Given the description of an element on the screen output the (x, y) to click on. 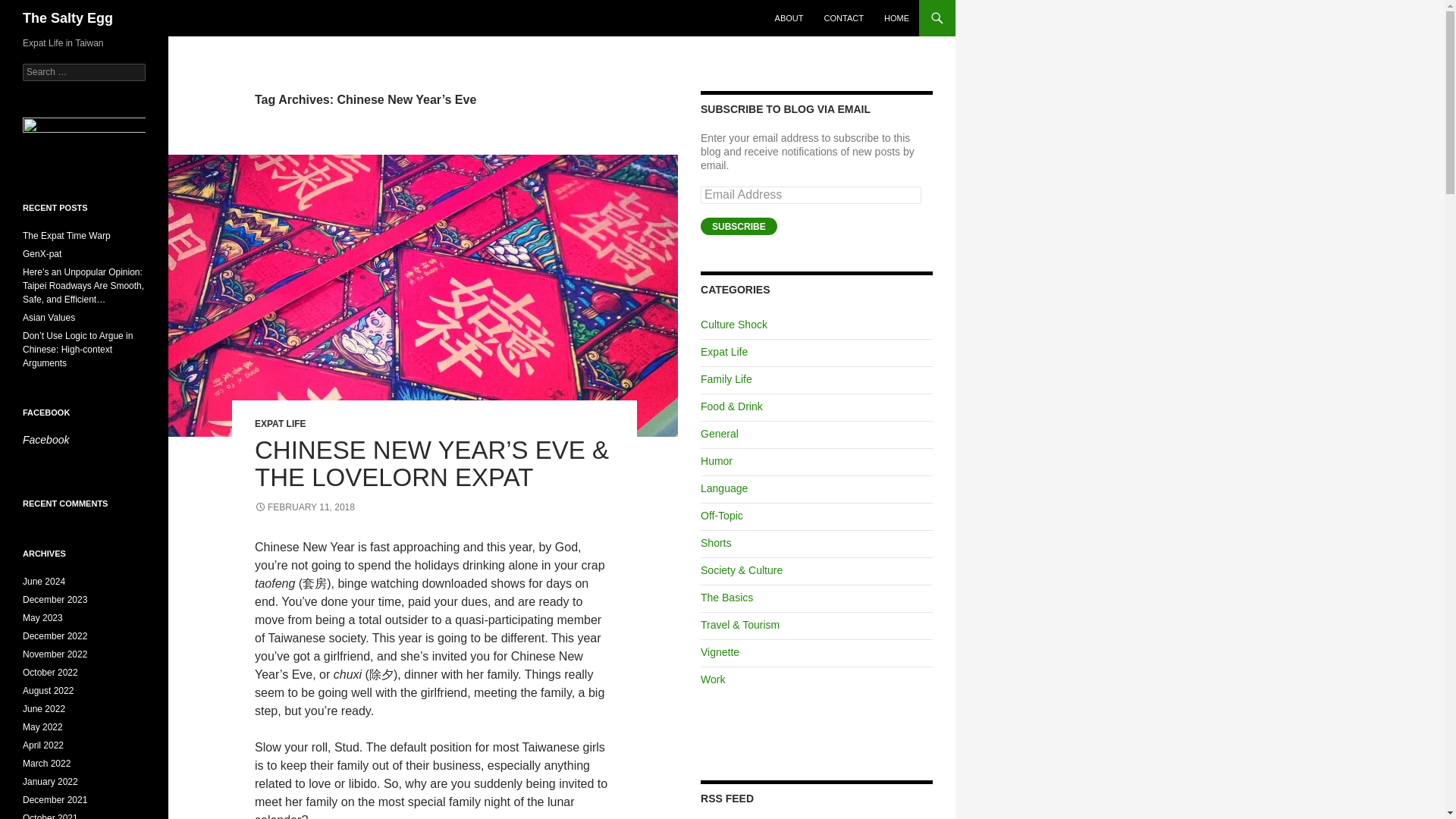
EXPAT LIFE (279, 423)
SUBSCRIBE (738, 226)
The Salty Egg (68, 18)
ABOUT (788, 18)
FEBRUARY 11, 2018 (304, 507)
HOME (896, 18)
CONTACT (843, 18)
